Given the description of an element on the screen output the (x, y) to click on. 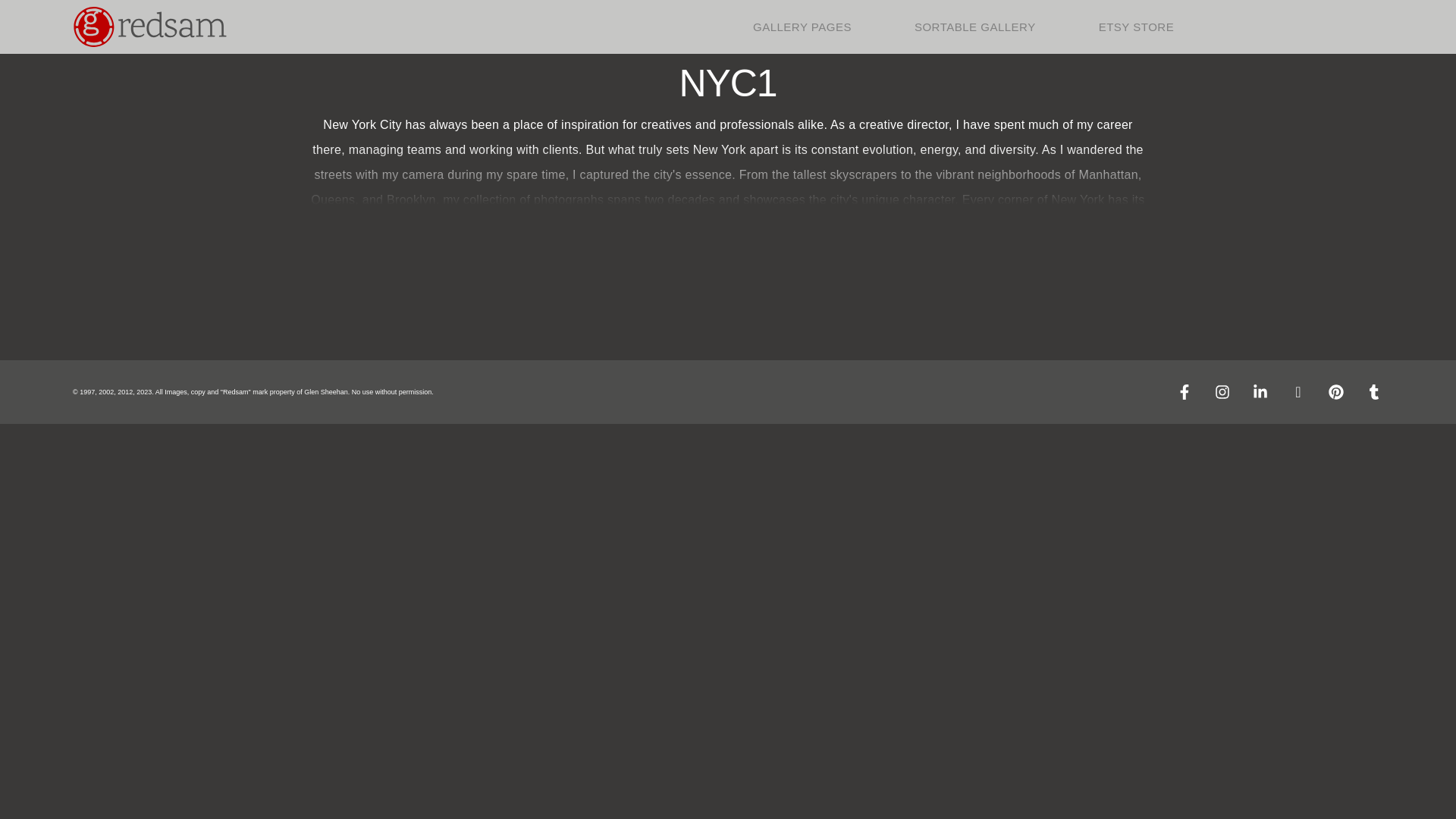
SORTABLE GALLERY (975, 26)
ETSY STORE (1136, 26)
GALLERY PAGES (801, 26)
